Given the description of an element on the screen output the (x, y) to click on. 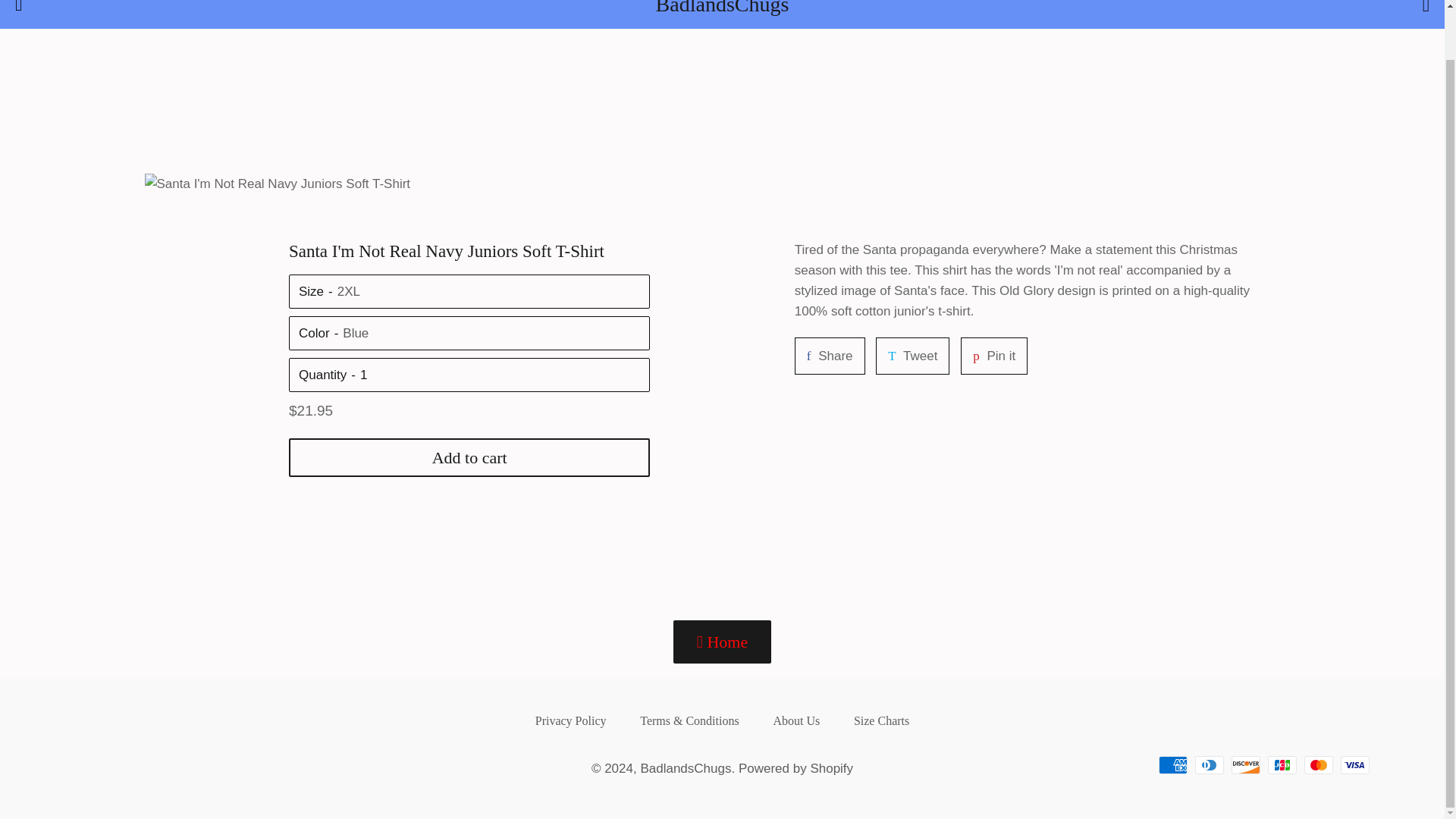
Share on Facebook (829, 355)
1 (500, 374)
Mastercard (1318, 764)
JCB (1282, 764)
American Express (1173, 764)
Visa (993, 355)
Discover (1355, 764)
About Us (1245, 764)
Privacy Policy (795, 721)
